Given the description of an element on the screen output the (x, y) to click on. 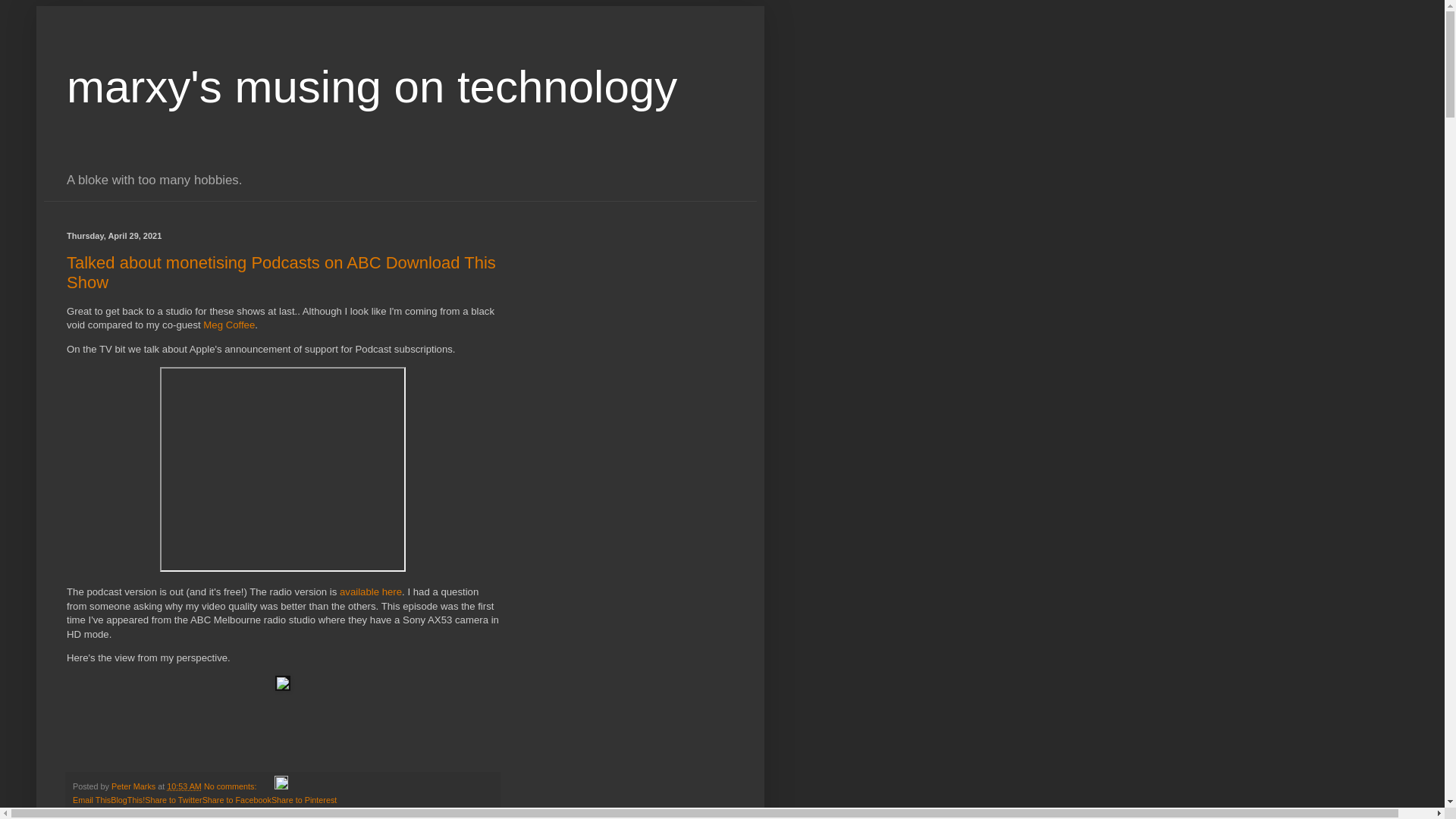
Share to Facebook (236, 799)
No comments: (231, 786)
Share to Facebook (236, 799)
permanent link (184, 786)
BlogThis! (127, 799)
Talked about monetising Podcasts on ABC Download This Show (281, 272)
10:53 AM (184, 786)
Share to Twitter (173, 799)
available here (370, 591)
Email This (91, 799)
Email Post (267, 786)
Share to Pinterest (303, 799)
Email This (91, 799)
Peter Marks (134, 786)
Share to Twitter (173, 799)
